Given the description of an element on the screen output the (x, y) to click on. 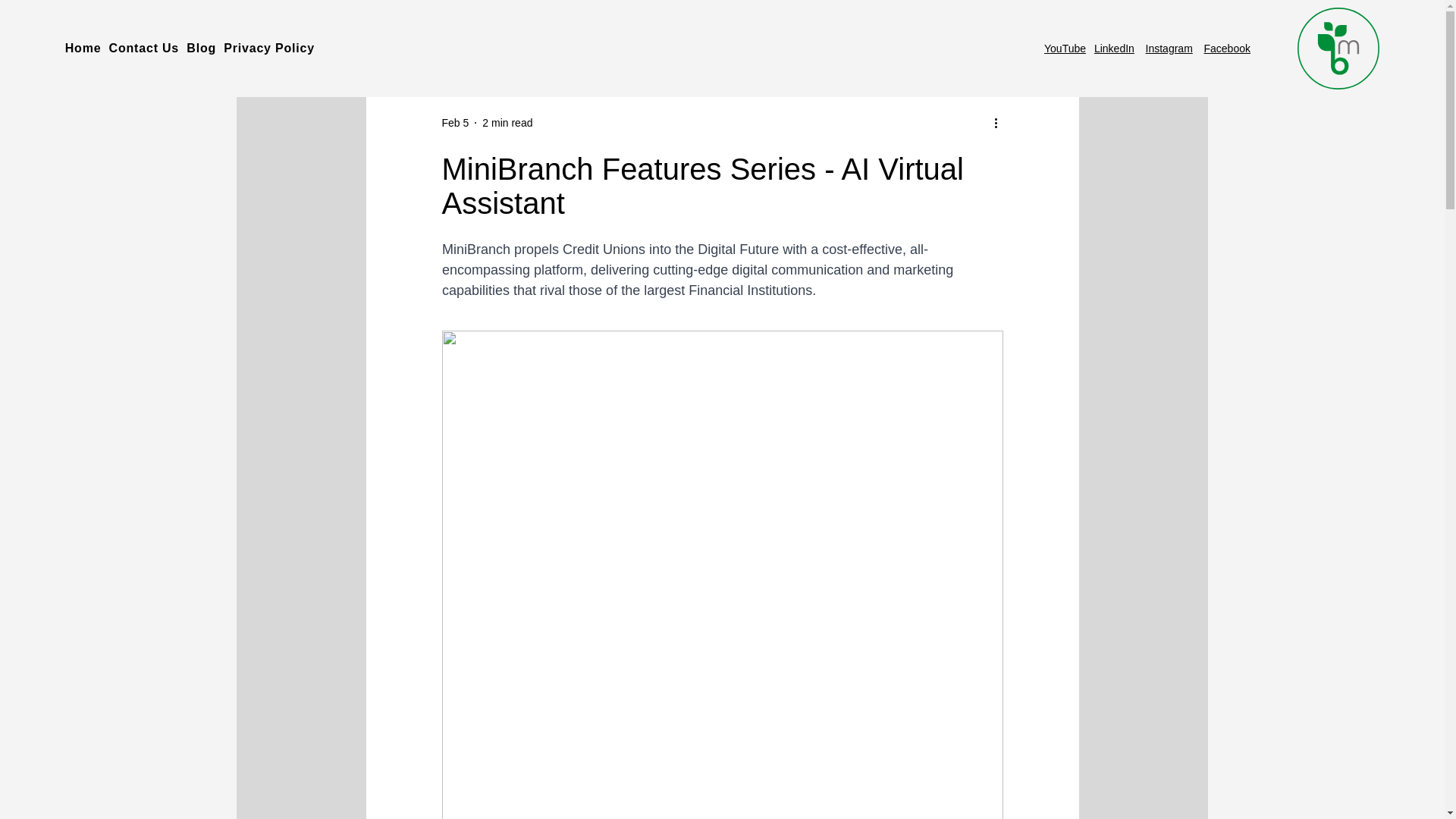
Blog (205, 48)
LinkedIn (1114, 48)
Contact Us (148, 48)
Feb 5 (454, 122)
2 min read (506, 122)
YouTube (1064, 48)
Privacy Policy (272, 48)
Home (87, 48)
Instagram (1168, 48)
Facebook (1227, 48)
